Given the description of an element on the screen output the (x, y) to click on. 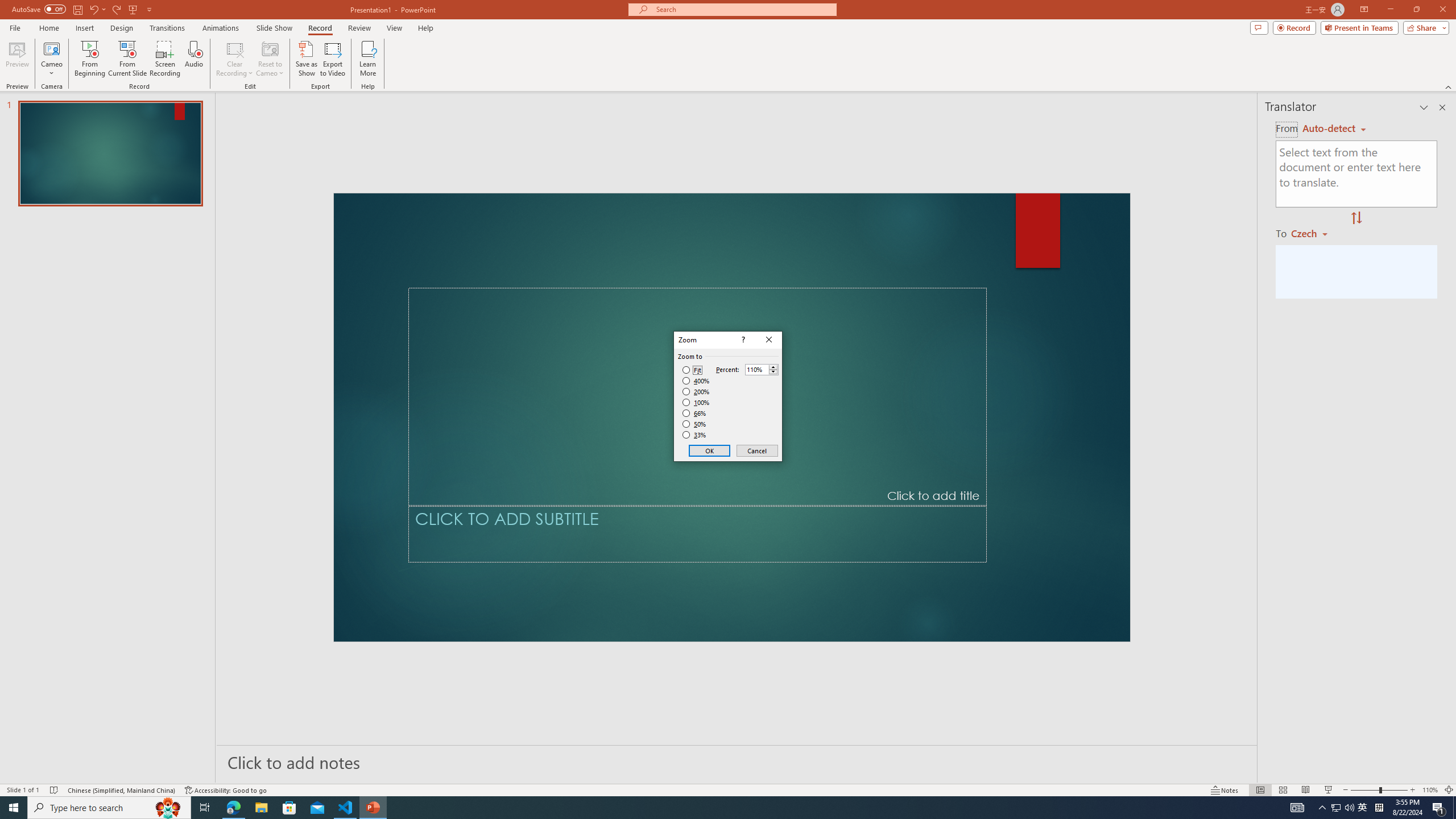
100% (696, 402)
Fit (691, 370)
Czech (1313, 232)
